Given the description of an element on the screen output the (x, y) to click on. 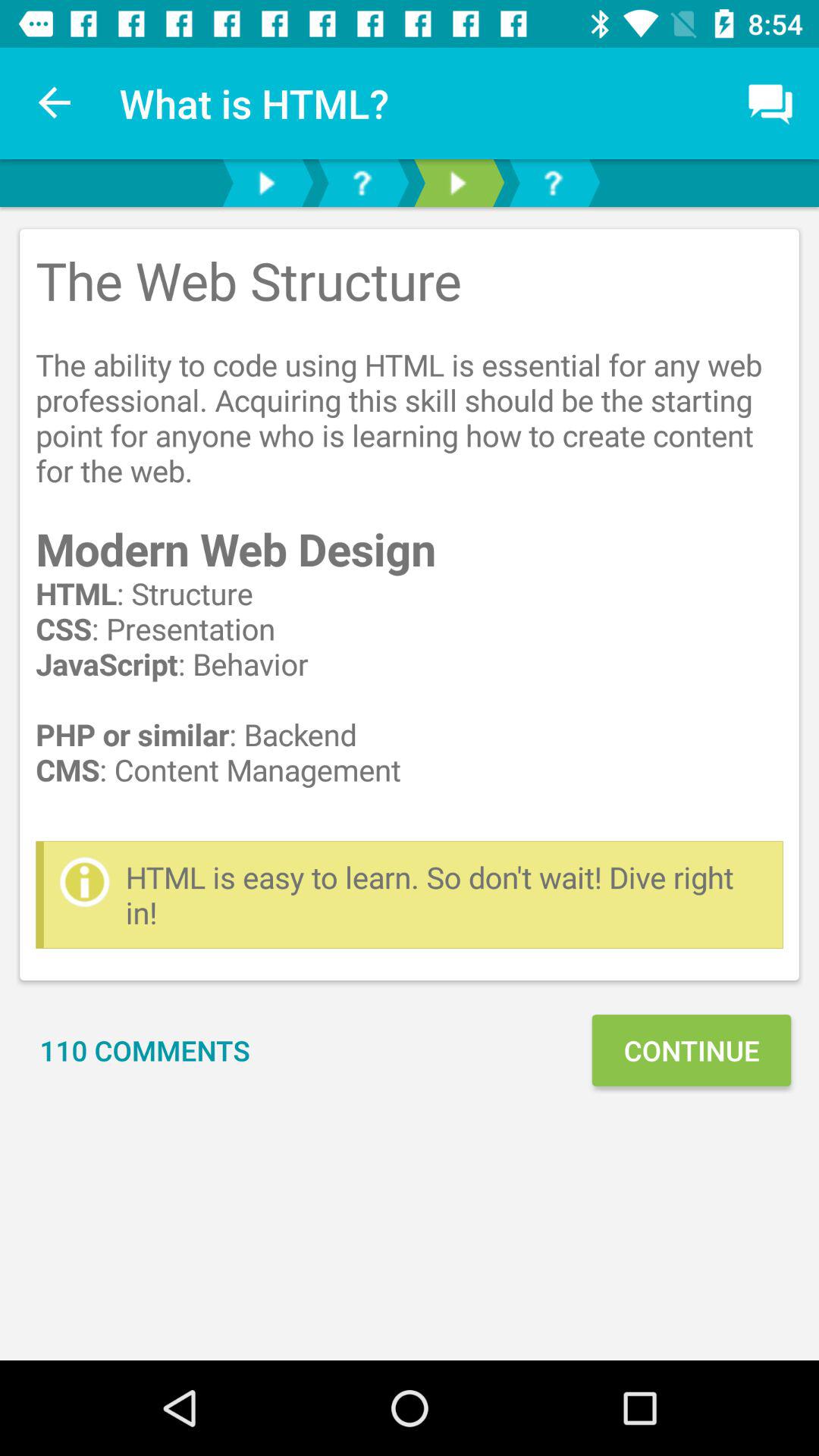
help icon (361, 183)
